Given the description of an element on the screen output the (x, y) to click on. 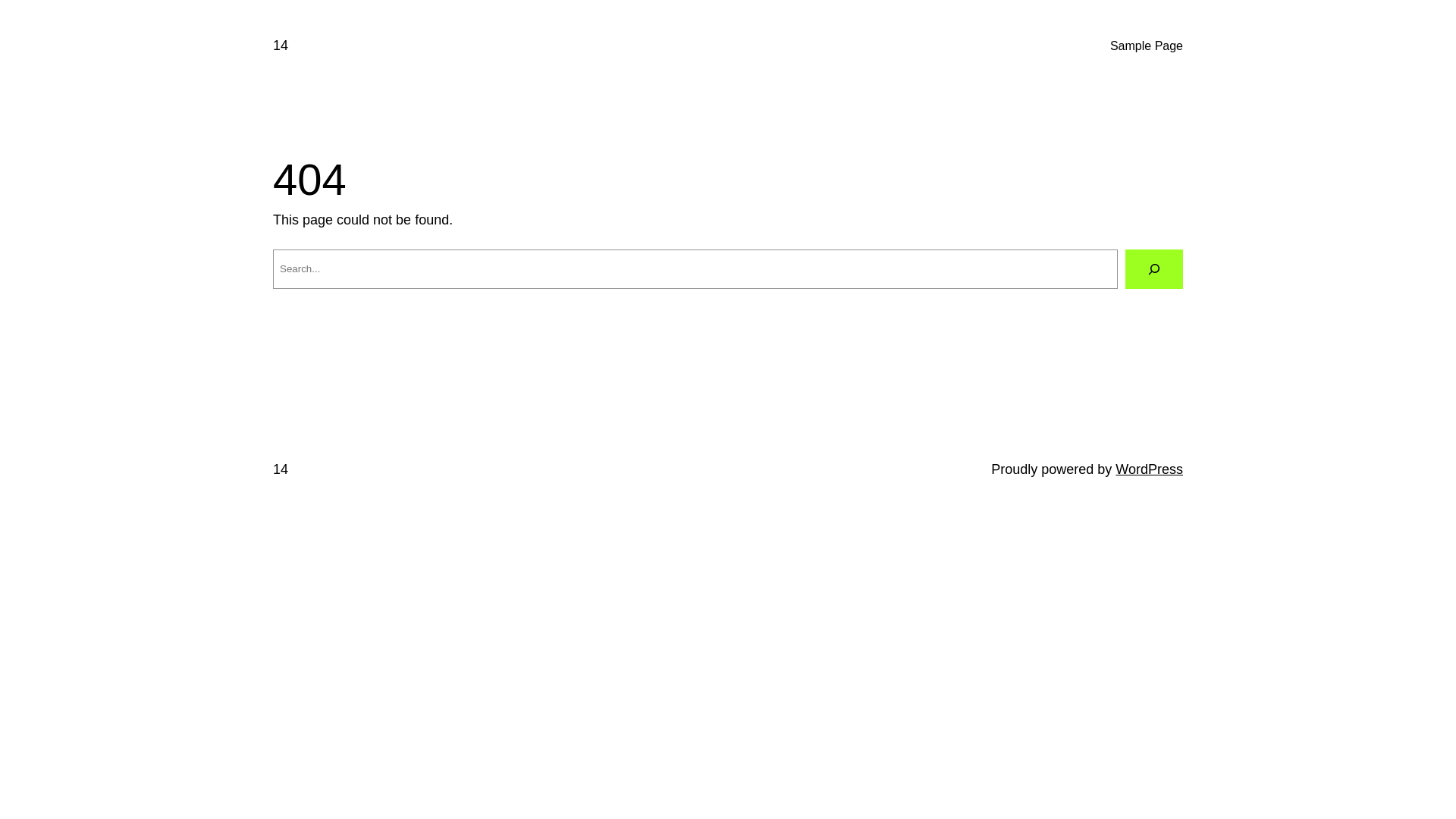
14 Element type: text (280, 468)
Sample Page Element type: text (1146, 46)
WordPress Element type: text (1149, 468)
14 Element type: text (280, 45)
